Given the description of an element on the screen output the (x, y) to click on. 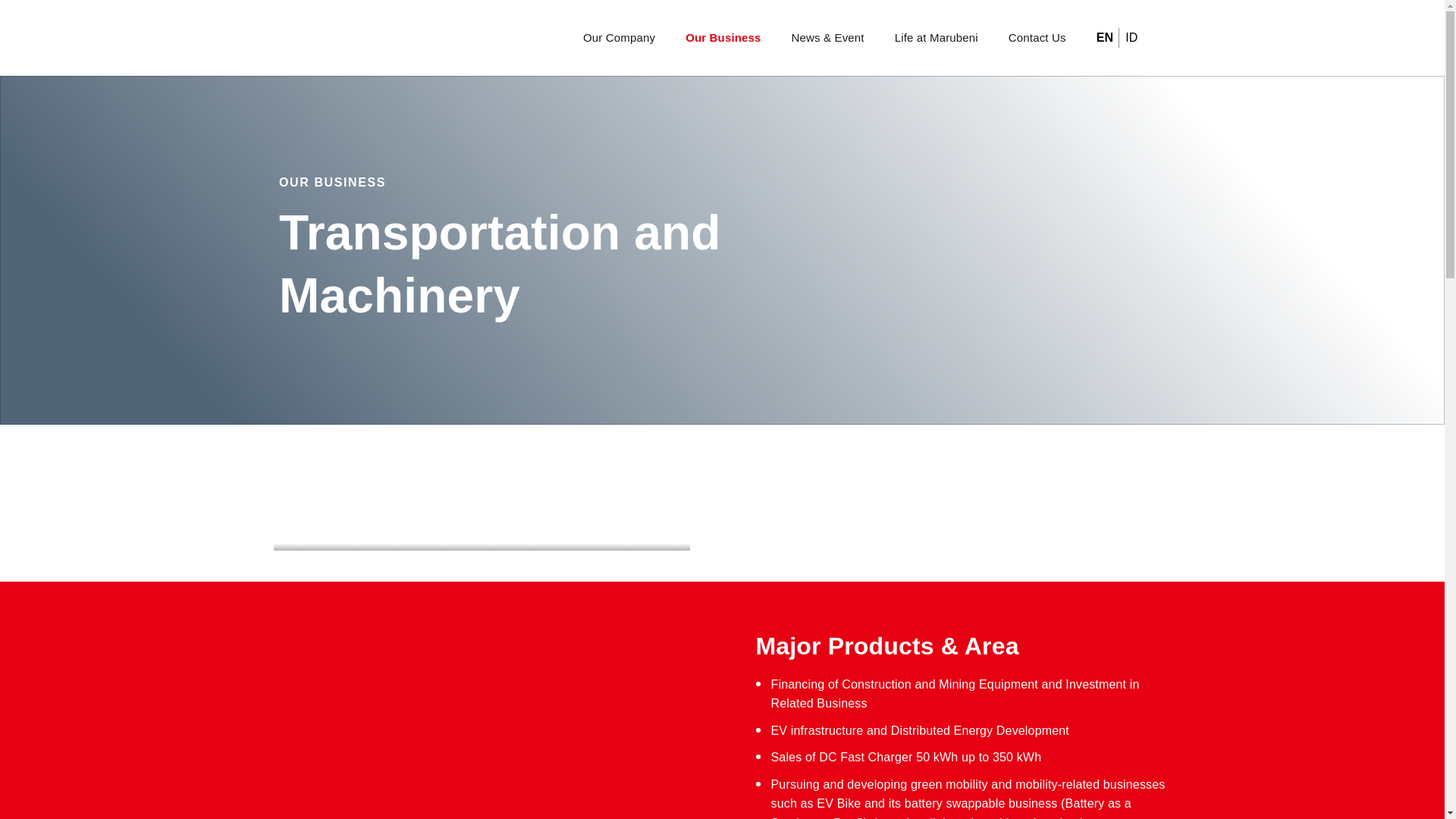
Our Company (619, 37)
Contact Us (1037, 37)
Life at Marubeni (936, 37)
EN (1104, 37)
Our Business (722, 37)
ID (1131, 37)
